Given the description of an element on the screen output the (x, y) to click on. 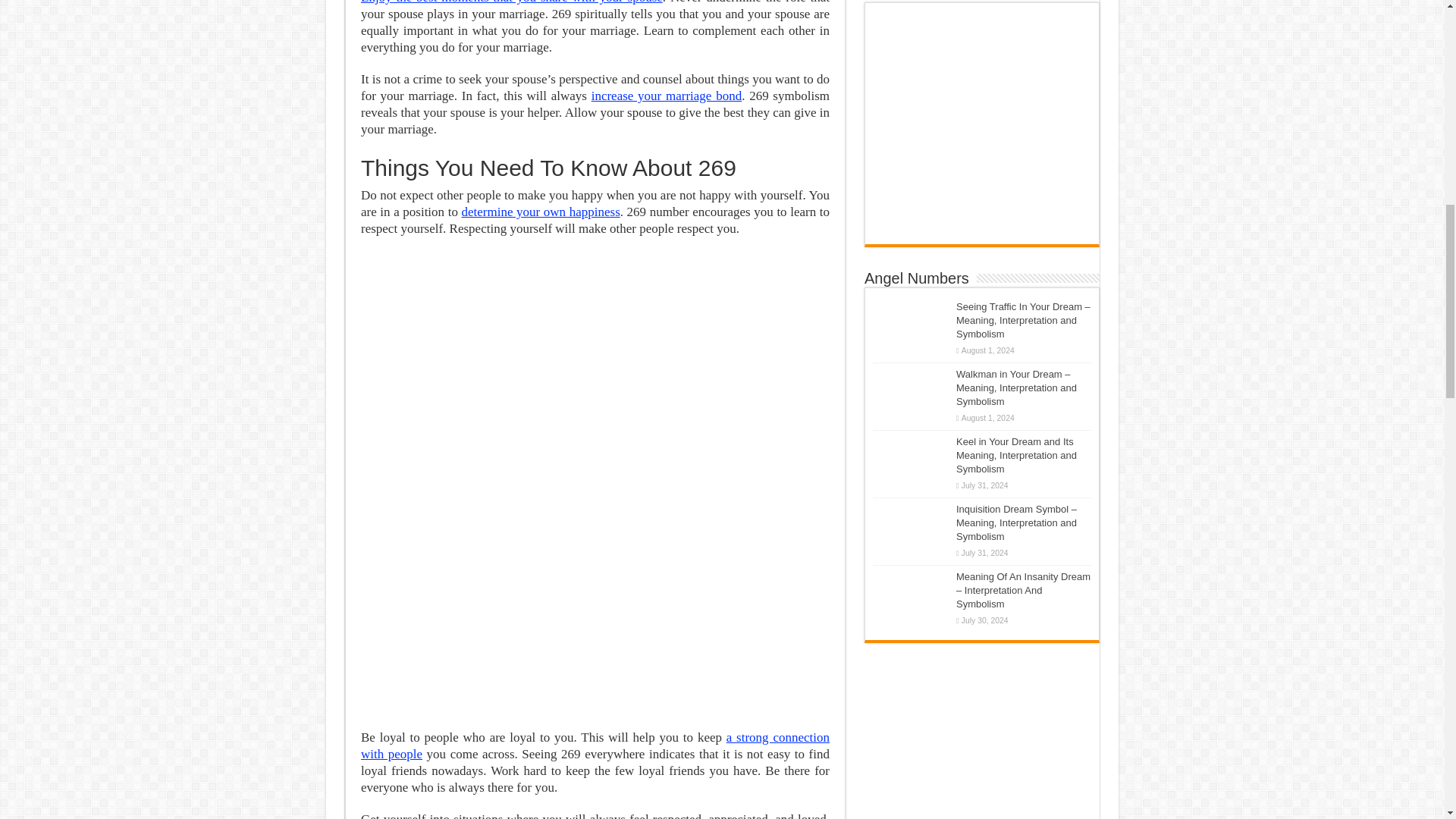
Advertisement (595, 622)
determine your own happiness (540, 211)
increase your marriage bond (666, 95)
Enjoy the best moments that you share with your spouse (511, 2)
a strong connection with people (595, 745)
